Given the description of an element on the screen output the (x, y) to click on. 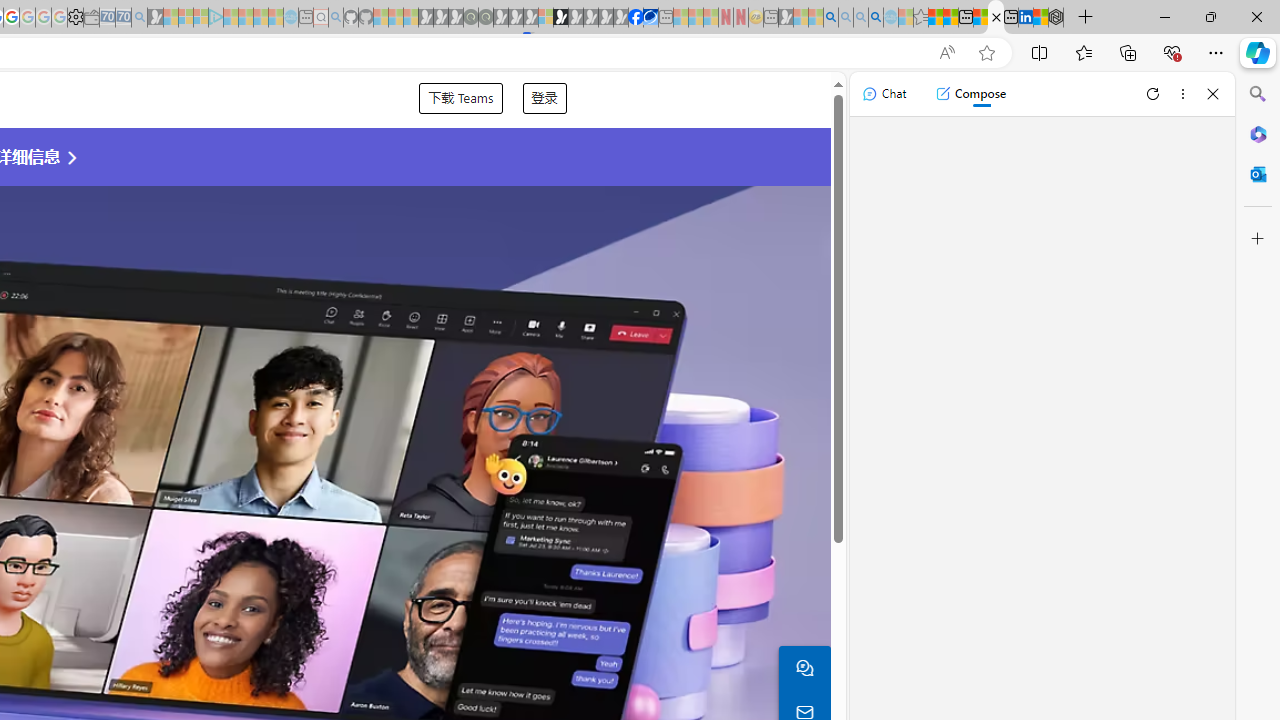
AQI & Health | AirNow.gov (650, 17)
Chat (884, 93)
